Given the description of an element on the screen output the (x, y) to click on. 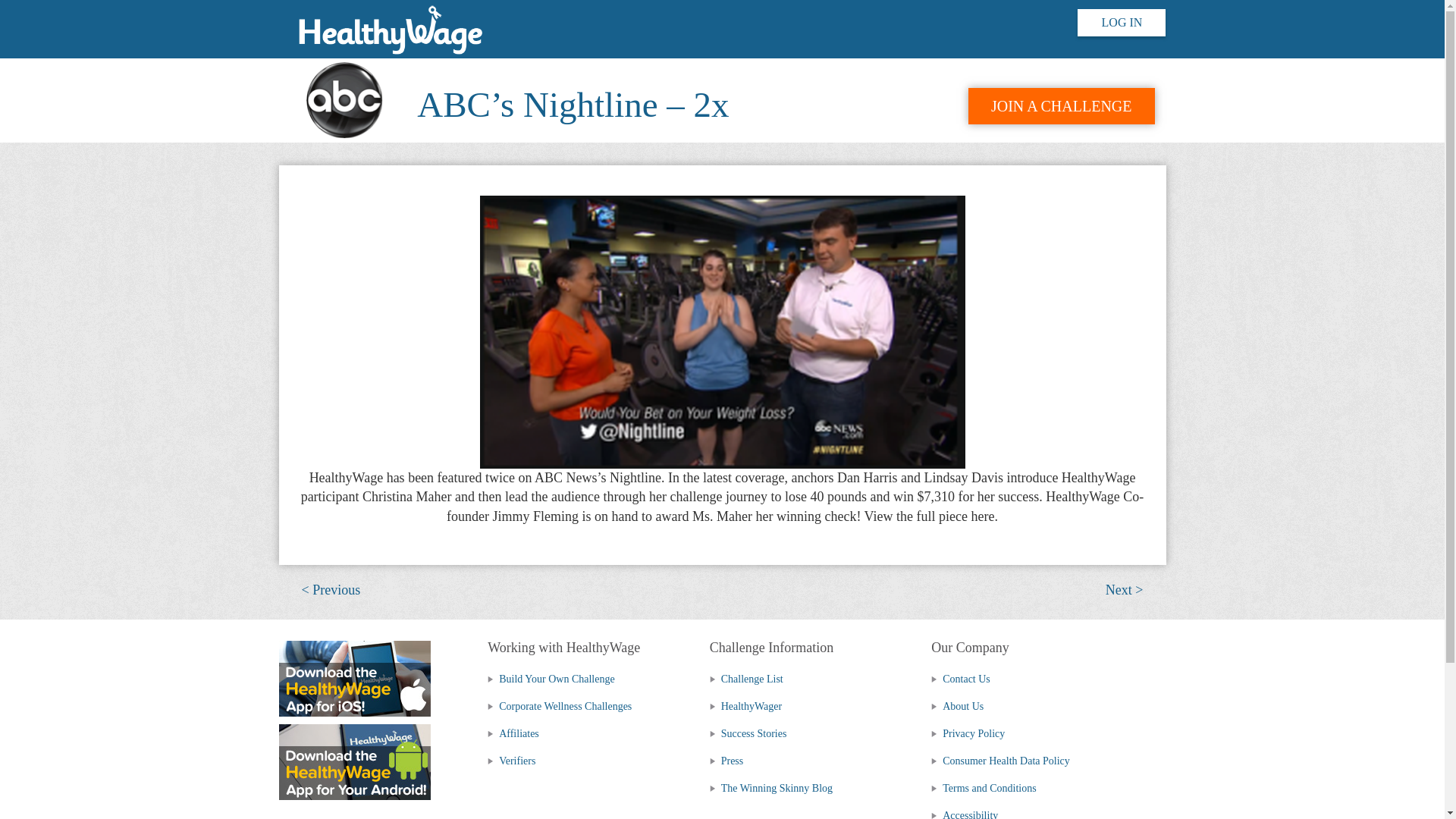
Terms and Conditions (983, 787)
Verifiers (511, 760)
About Us (957, 706)
LOG IN (1121, 22)
Consumer Health Data Policy (1000, 760)
Success Stories (748, 733)
The Winning Skinny Blog (771, 787)
Accessibility (964, 814)
Privacy Policy (967, 733)
Challenge List (746, 678)
